Given the description of an element on the screen output the (x, y) to click on. 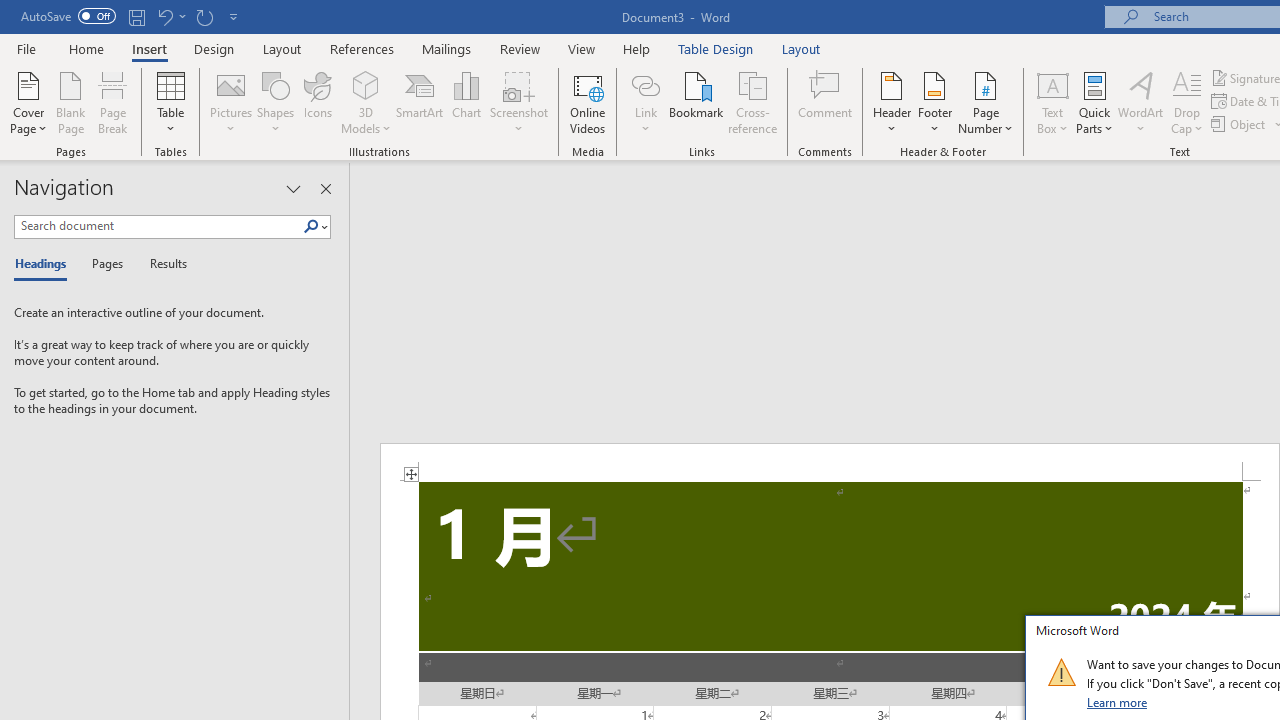
Comment (825, 102)
Repeat Doc Close (204, 15)
Table (170, 102)
Mailings (447, 48)
Shapes (275, 102)
Quick Parts (1094, 102)
SmartArt... (419, 102)
Cover Page (28, 102)
Page Number (986, 102)
Undo Increase Indent (164, 15)
Footer (934, 102)
3D Models (366, 102)
Layout (801, 48)
